Given the description of an element on the screen output the (x, y) to click on. 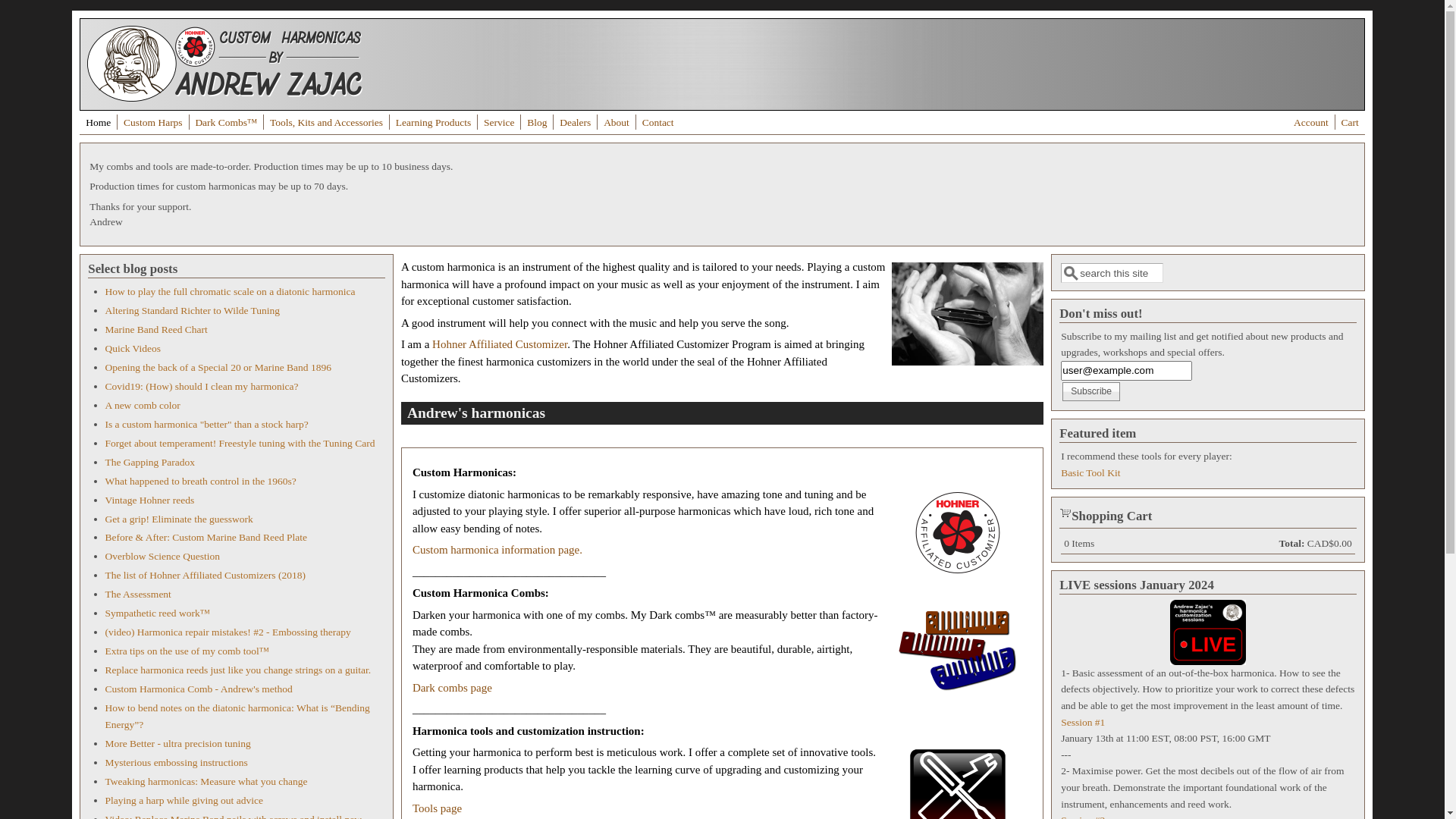
How to play the full chromatic scale on a diatonic harmonica Element type: text (229, 291)
Tools page Element type: text (436, 808)
A new comb color Element type: text (141, 405)
Before & After: Custom Marine Band Reed Plate Element type: text (205, 536)
Cart Element type: text (1349, 122)
Home Element type: text (97, 122)
Custom Harmonica Comb - Andrew's method Element type: text (197, 688)
Get a grip! Eliminate the guesswork Element type: text (178, 518)
Contact Element type: text (658, 122)
Tools, Kits and Accessories Element type: text (325, 122)
Subscribe Element type: text (1091, 391)
Skip to main content Element type: text (47, 10)
Dealers Element type: text (574, 122)
Home Element type: hover (224, 97)
The Assessment Element type: text (137, 593)
About Element type: text (616, 122)
Is a custom harmonica "better" than a stock harp? Element type: text (205, 423)
Overblow Science Question Element type: text (161, 555)
Altering Standard Richter to Wilde Tuning Element type: text (191, 310)
Account Element type: text (1310, 122)
Dark combs page Element type: text (452, 687)
Blog Element type: text (536, 122)
Covid19: (How) should I clean my harmonica? Element type: text (201, 386)
Hohner Affiliated Customizer Element type: text (499, 344)
Vintage Hohner reeds Element type: text (149, 499)
The list of Hohner Affiliated Customizers (2018) Element type: text (204, 574)
Playing a harp while giving out advice Element type: text (183, 800)
(video) Harmonica repair mistakes! #2 - Embossing therapy Element type: text (227, 631)
Tweaking harmonicas: Measure what you change Element type: text (205, 781)
Custom harmonica information page. Element type: text (497, 549)
Custom Harps Element type: text (152, 122)
Basic Tool Kit Element type: text (1090, 472)
Marine Band Reed Chart Element type: text (155, 329)
Opening the back of a Special 20 or Marine Band 1896 Element type: text (217, 367)
Mysterious embossing instructions Element type: text (175, 762)
Quick Videos Element type: text (132, 348)
What happened to breath control in the 1960s? Element type: text (199, 480)
Learning Products Element type: text (432, 122)
View your shopping cart. Element type: hover (1065, 511)
Service Element type: text (498, 122)
Session #1 Element type: text (1082, 722)
More Better - ultra precision tuning Element type: text (177, 743)
The Gapping Paradox Element type: text (149, 461)
